Given the description of an element on the screen output the (x, y) to click on. 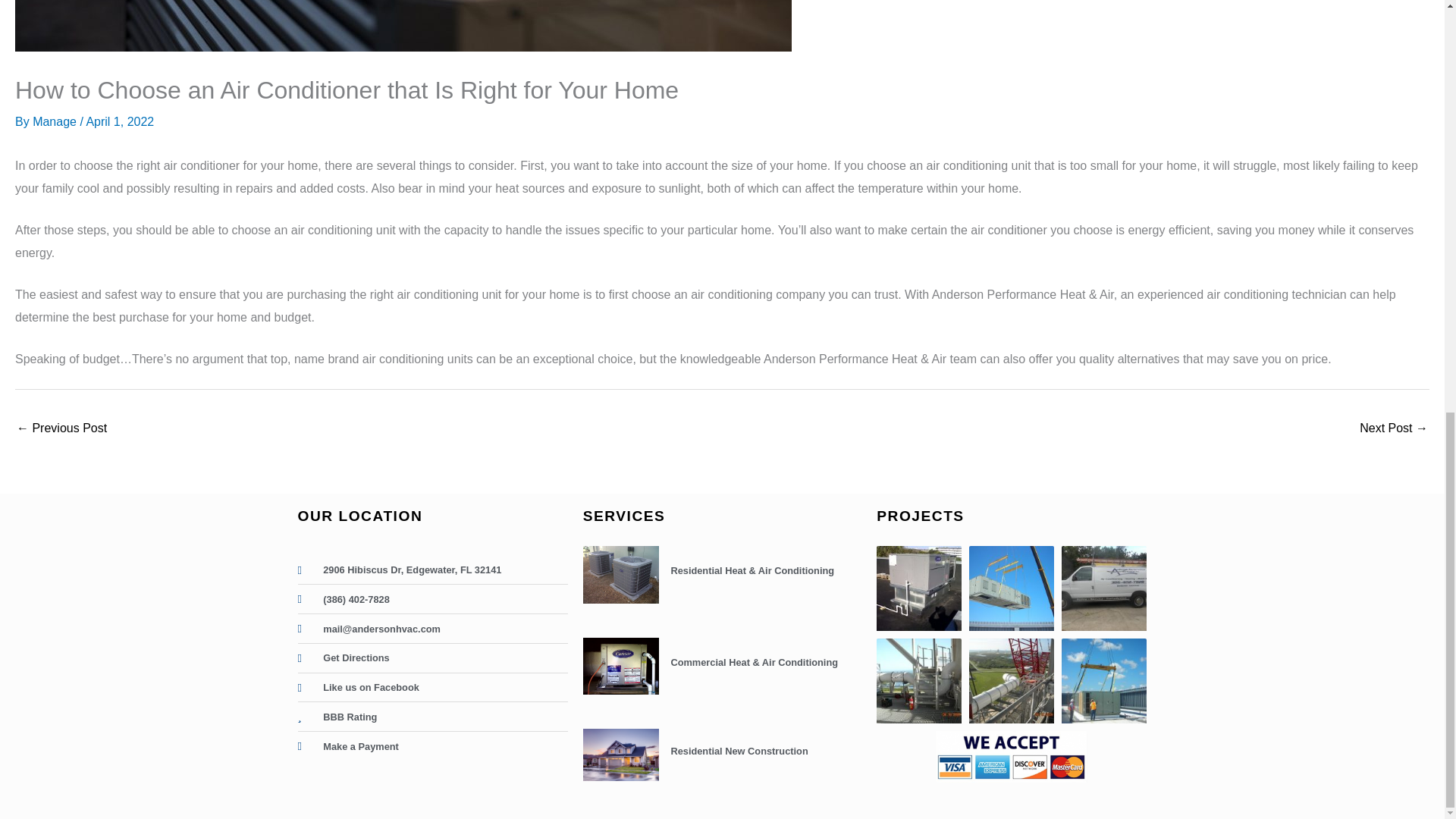
View all posts by Manage (56, 121)
Health and Indoor Air Quality (61, 429)
Keep Your Compressor Clean! (1393, 429)
